Given the description of an element on the screen output the (x, y) to click on. 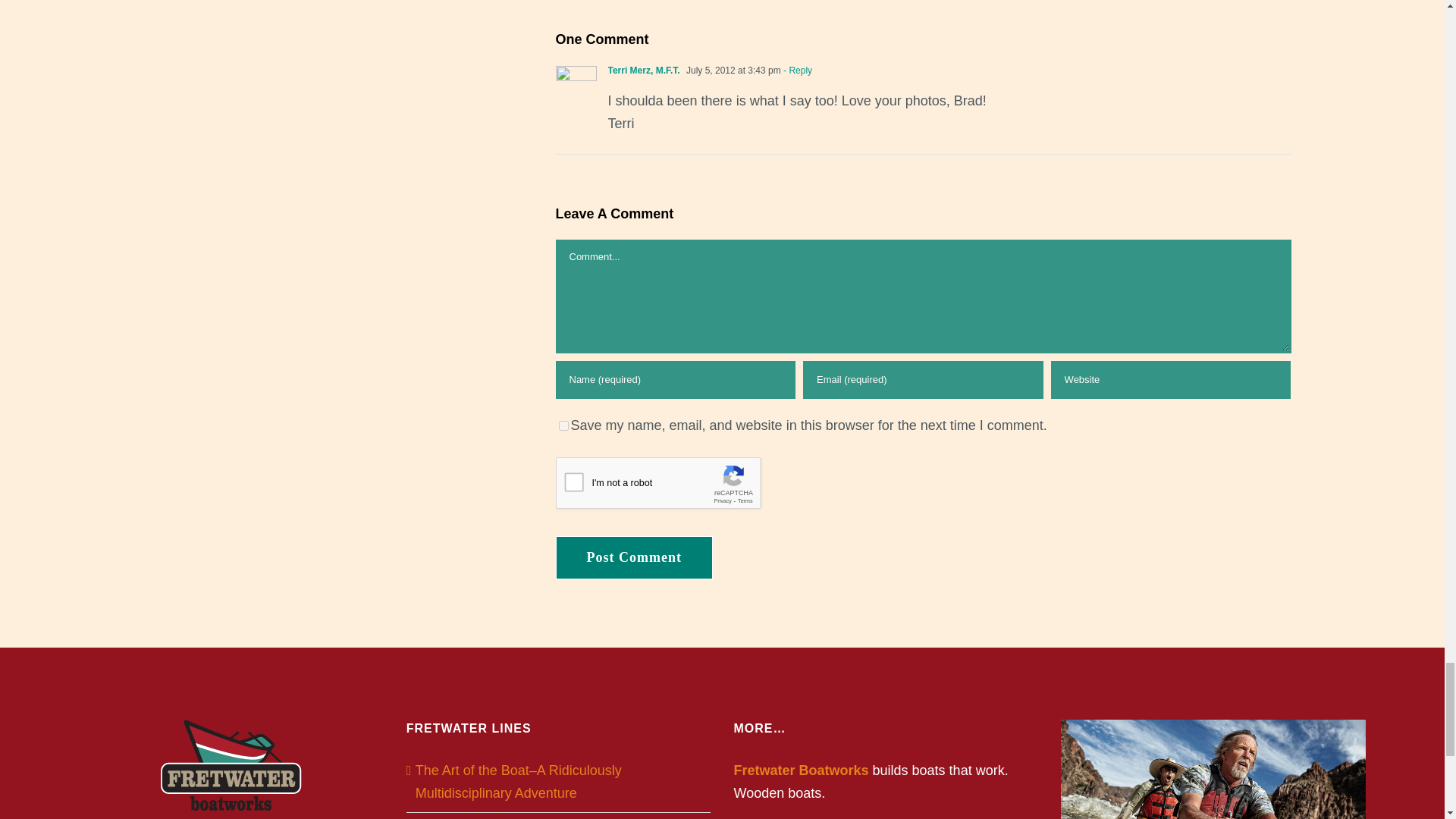
Post Comment (632, 557)
reCAPTCHA (670, 486)
yes (562, 425)
